Given the description of an element on the screen output the (x, y) to click on. 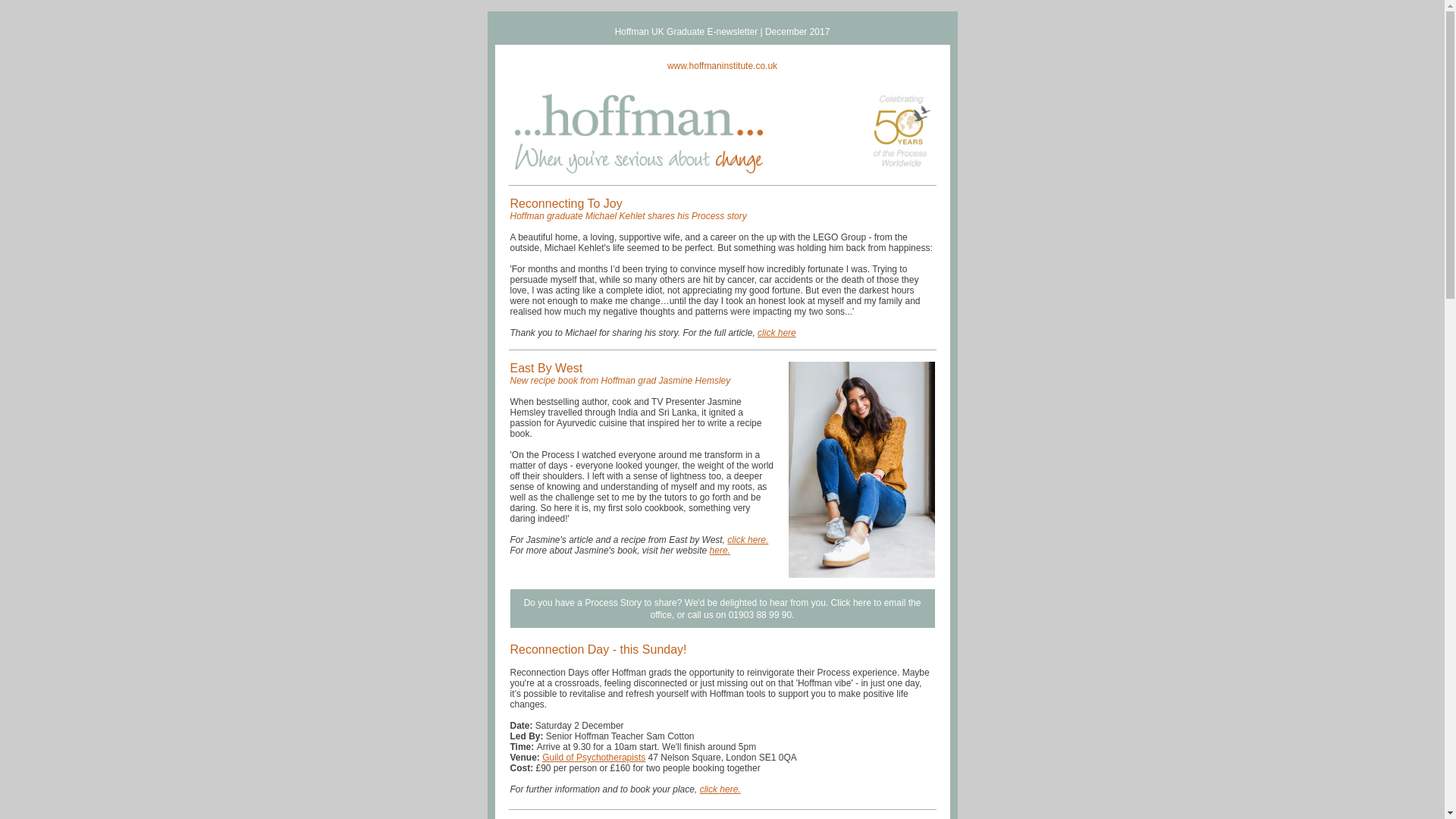
click here (776, 332)
click here. (747, 539)
here. (720, 550)
Guild of Psychotherapists (593, 757)
click here. (720, 788)
www.hoffmaninstitute.co.uk (721, 65)
